Given the description of an element on the screen output the (x, y) to click on. 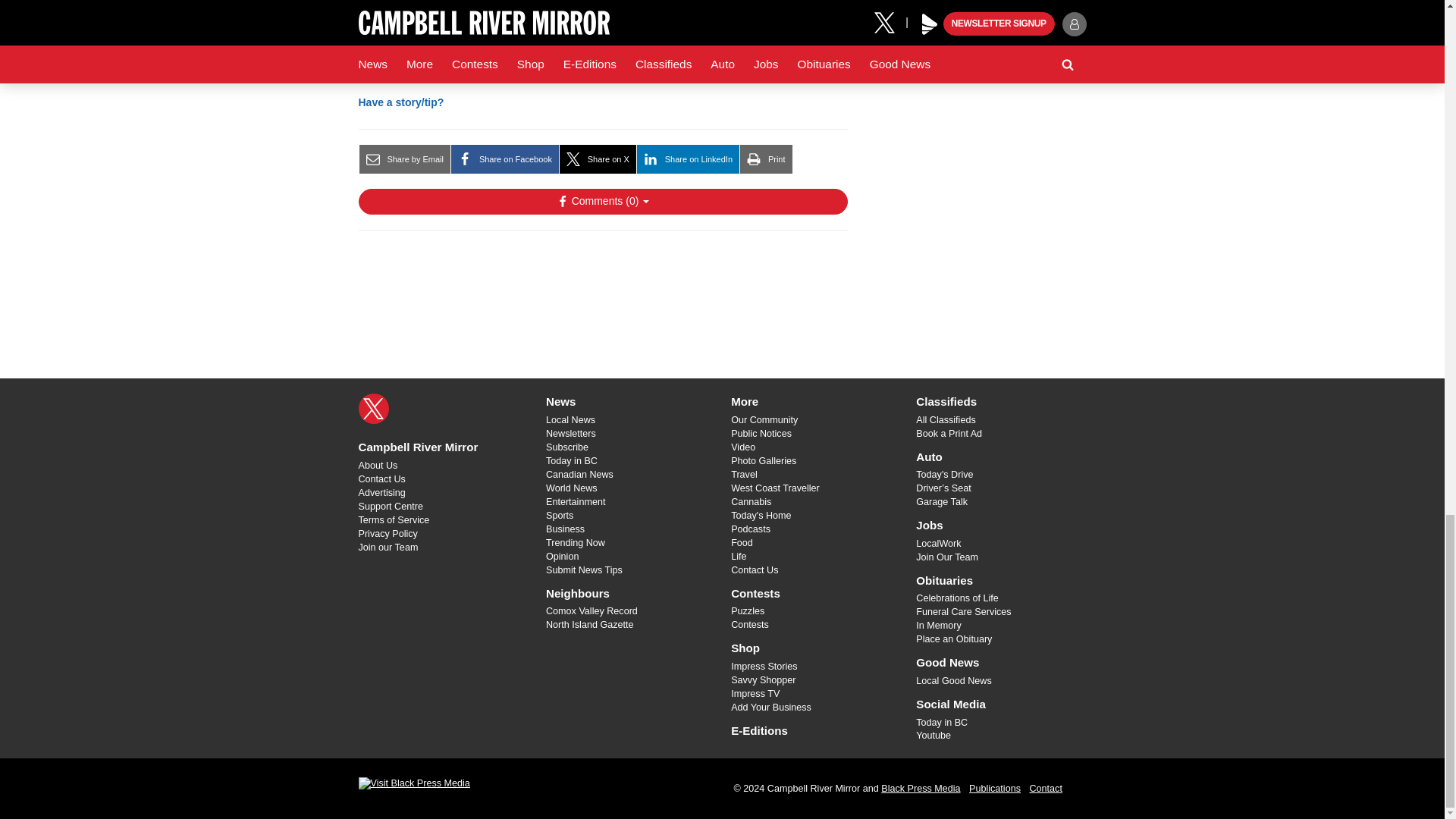
Show Comments (602, 201)
X (373, 408)
